Given the description of an element on the screen output the (x, y) to click on. 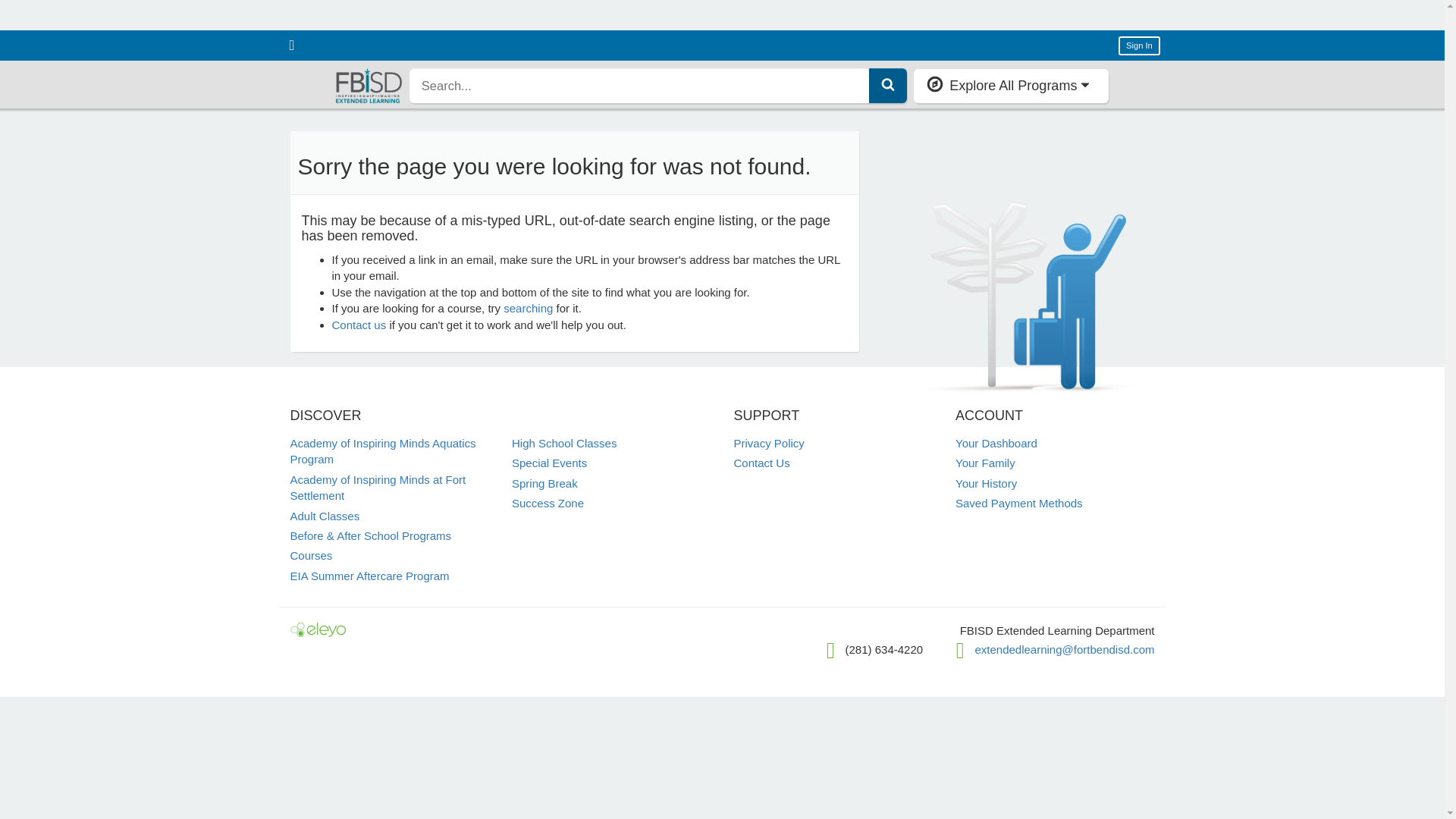
Explore All Programs (1011, 85)
 Compass Icon (934, 84)
 Search Icon (887, 83)
Sign In (1139, 45)
 Caret Down Icon (1085, 84)
